Given the description of an element on the screen output the (x, y) to click on. 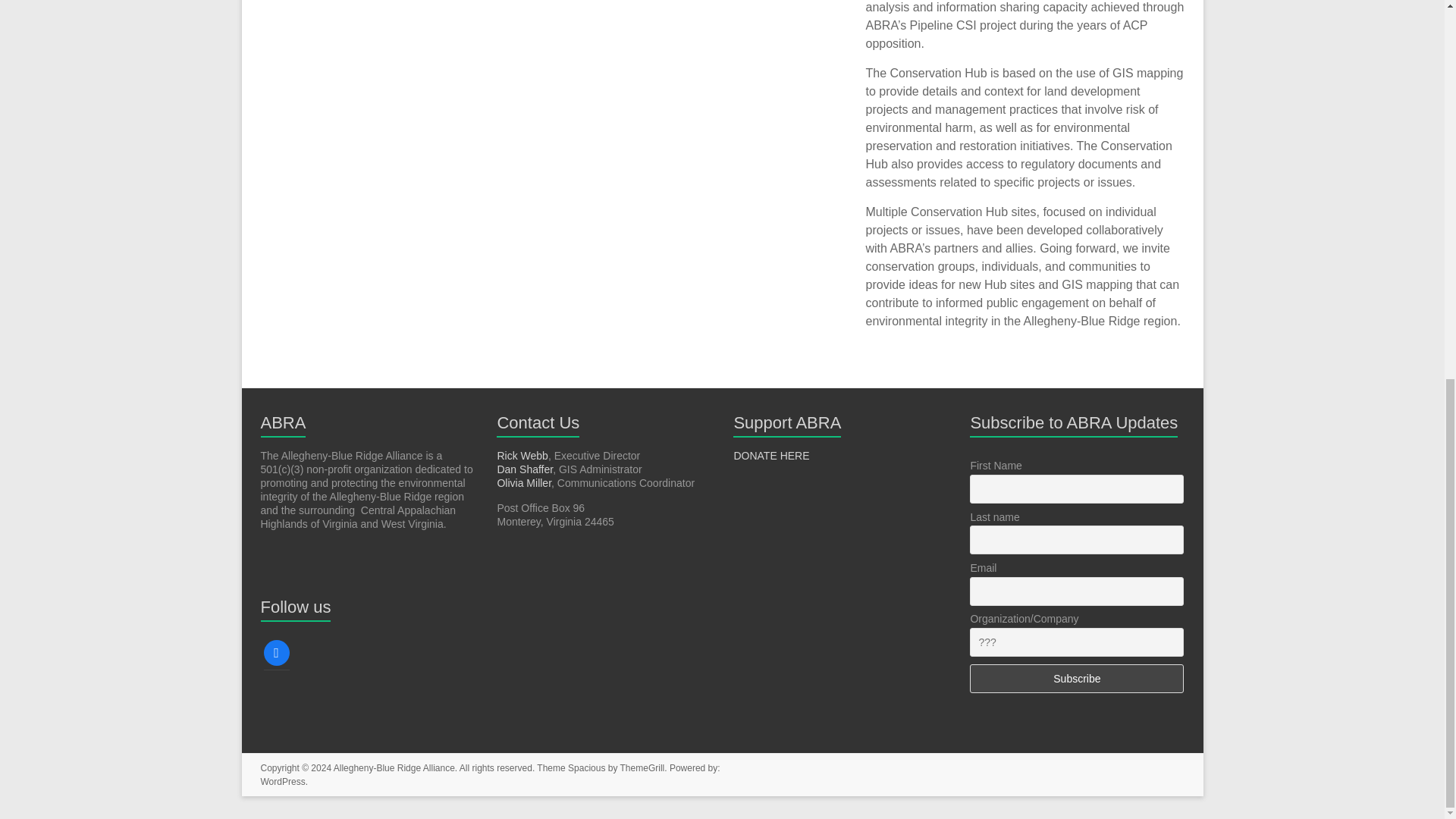
Allegheny-Blue Ridge Alliance (393, 767)
Subscribe (1076, 678)
Rick Webb (521, 455)
WordPress (282, 781)
Olivia Miller (523, 482)
Spacious (586, 767)
Allegheny-Blue Ridge Alliance (393, 767)
DONATE HERE (771, 455)
Subscribe (1076, 678)
Dan Shaffer (524, 469)
Spacious (586, 767)
WordPress (282, 781)
facebook (276, 652)
Facebook (276, 652)
